Given the description of an element on the screen output the (x, y) to click on. 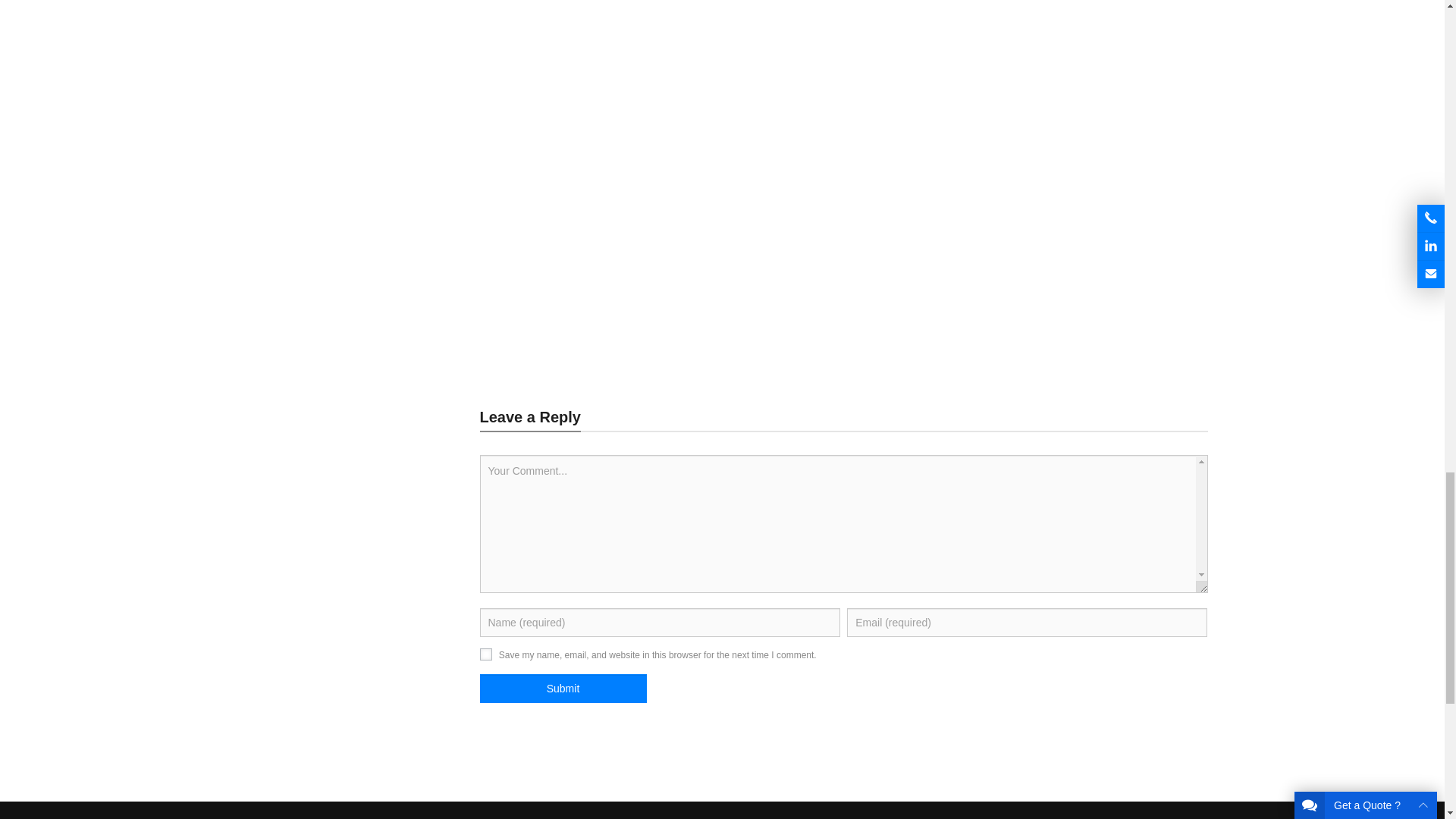
Submit (562, 688)
yes (485, 654)
